Given the description of an element on the screen output the (x, y) to click on. 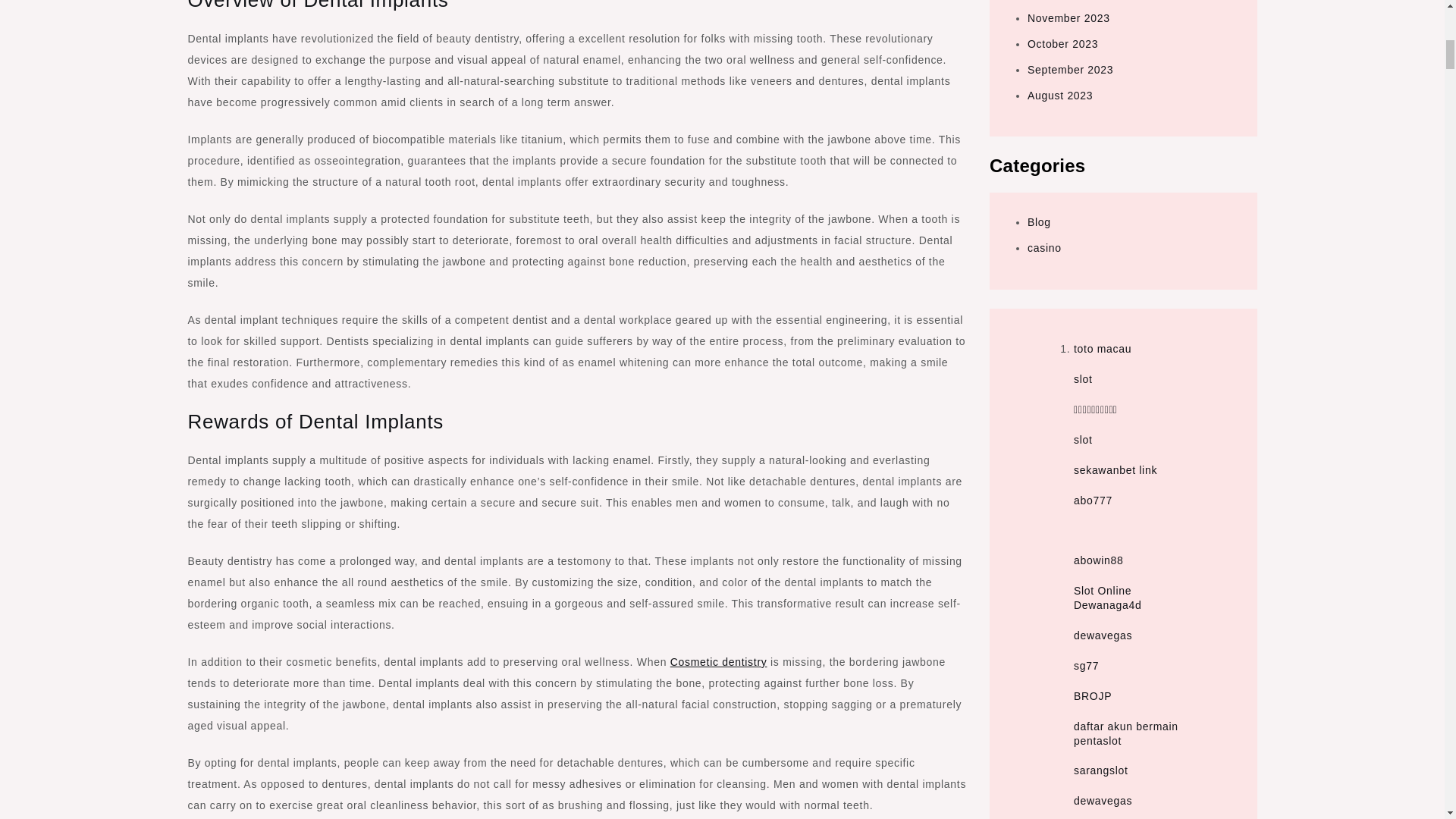
October 2023 (1062, 43)
abo777 (1093, 500)
Cosmetic dentistry (718, 662)
August 2023 (1060, 95)
November 2023 (1068, 18)
toto macau (1102, 348)
slot (1083, 439)
casino (1044, 247)
September 2023 (1070, 69)
slot (1083, 378)
Blog (1039, 222)
sekawanbet link (1115, 469)
